Given the description of an element on the screen output the (x, y) to click on. 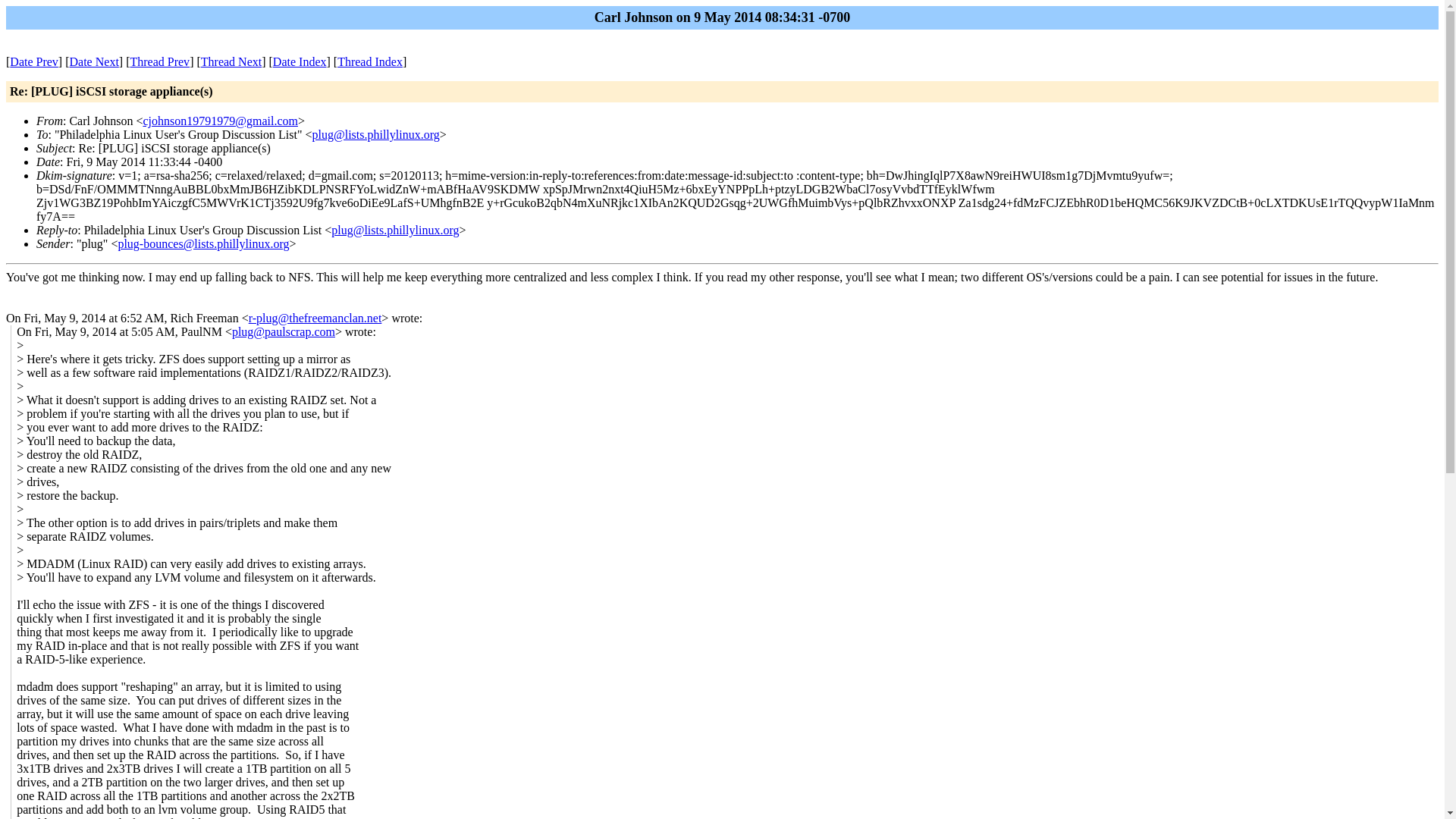
Thread Prev (159, 61)
Thread Next (231, 61)
Date Index (299, 61)
Date Prev (34, 61)
Thread Index (370, 61)
Date Next (94, 61)
